Given the description of an element on the screen output the (x, y) to click on. 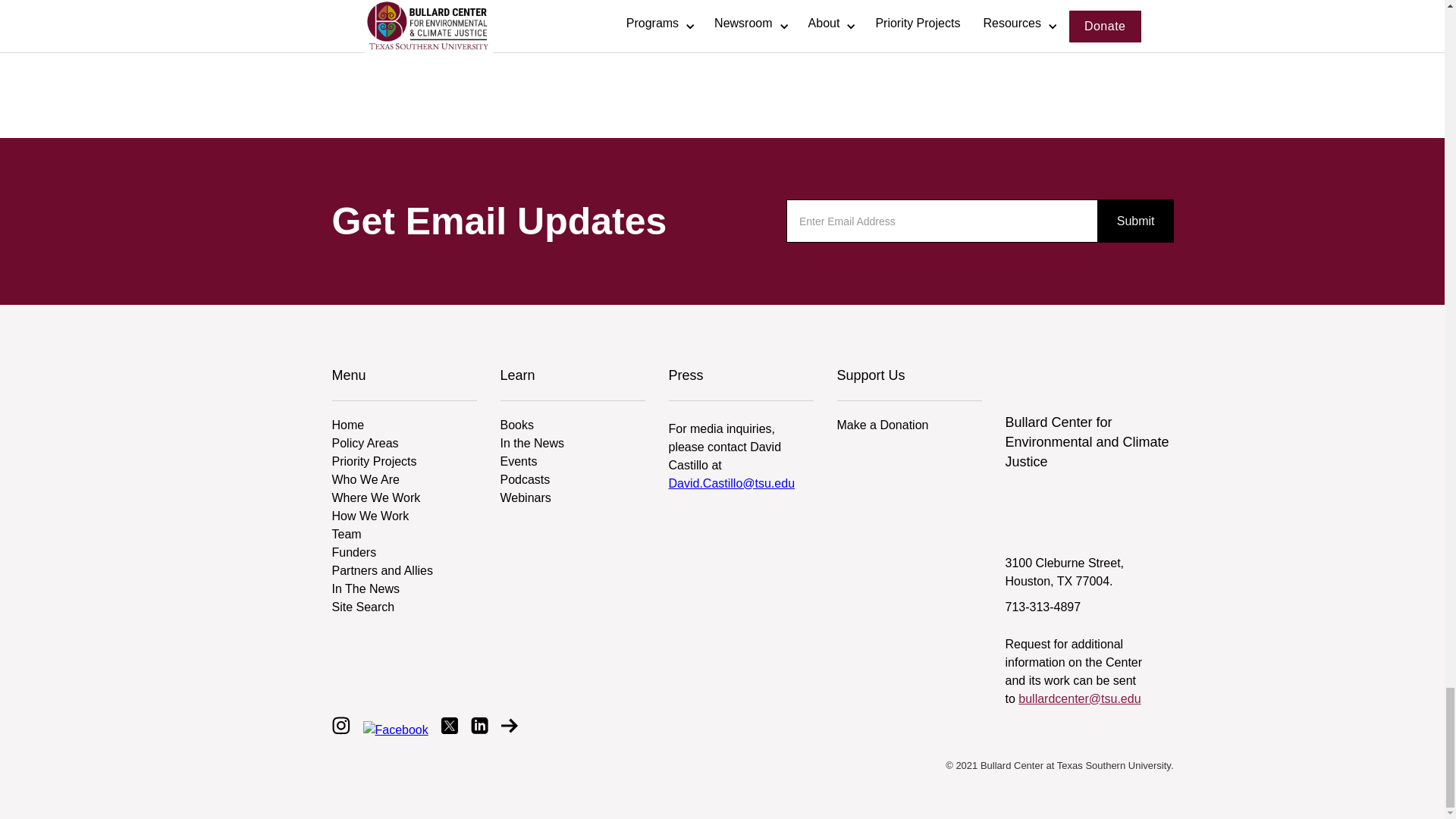
Submit (1135, 220)
